Given the description of an element on the screen output the (x, y) to click on. 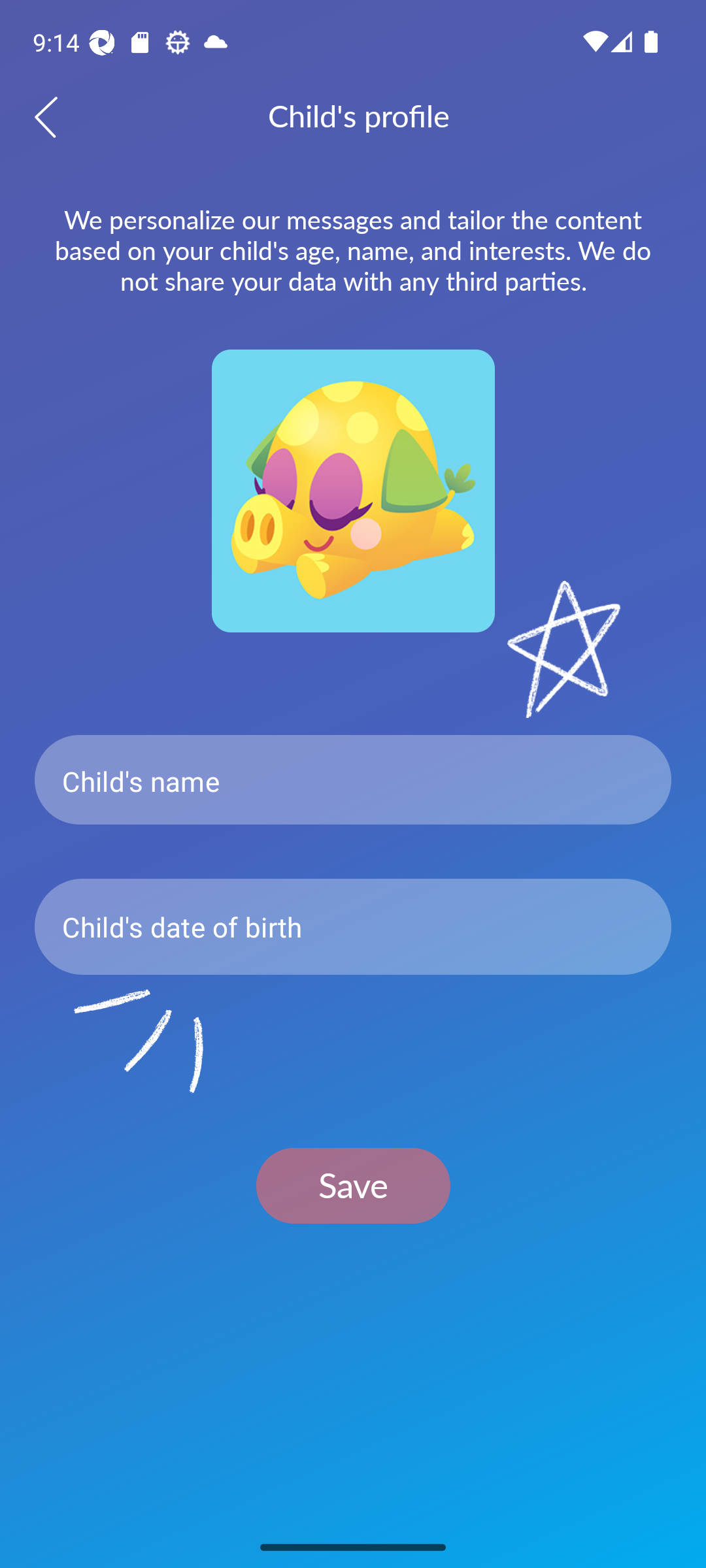
Child's name (352, 779)
Child's date of birth (352, 926)
Save (353, 1185)
